Given the description of an element on the screen output the (x, y) to click on. 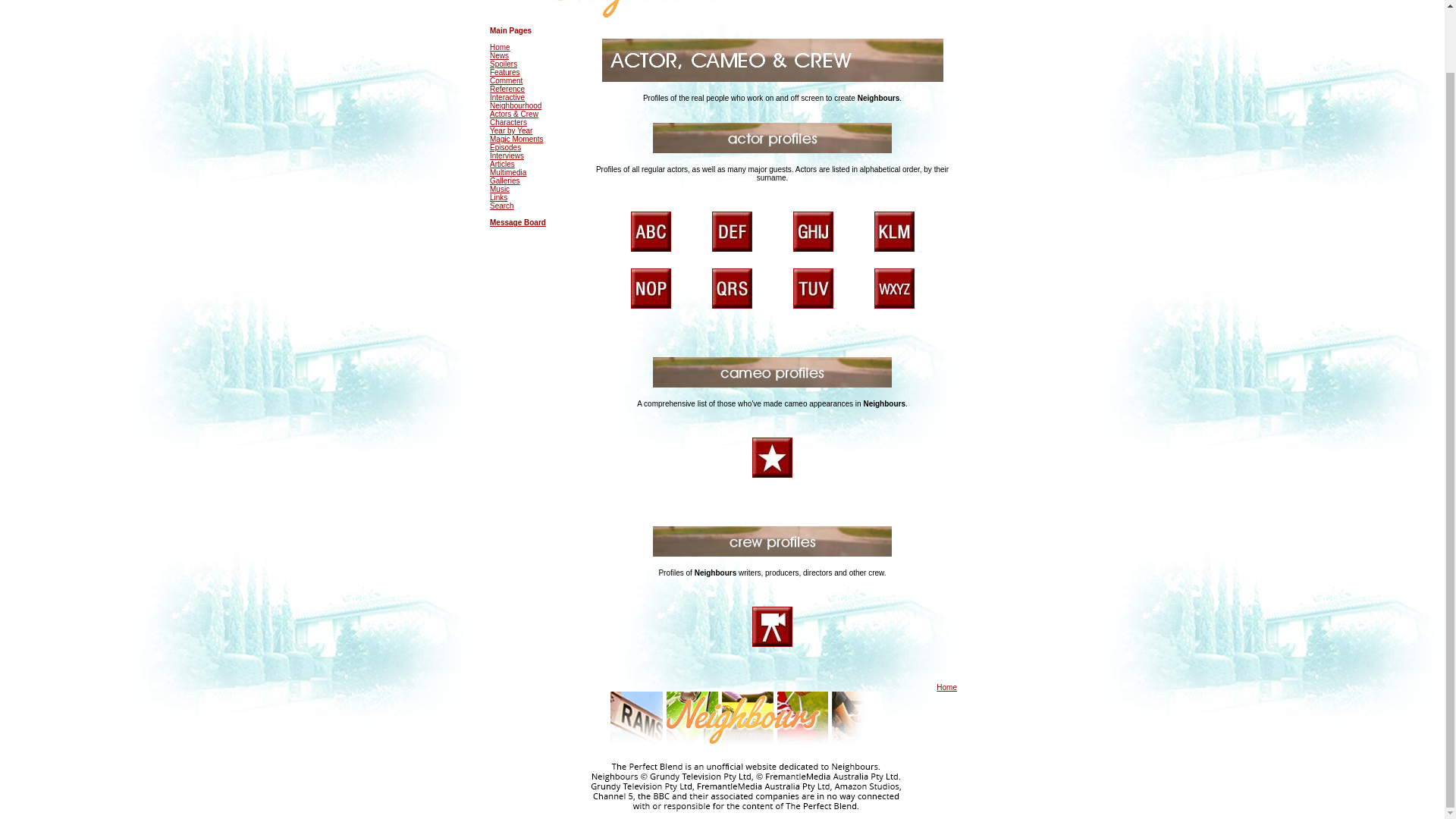
Links (497, 197)
Music (499, 189)
Articles (502, 163)
Neighbourhood (515, 105)
Search (501, 205)
Year by Year (510, 130)
Multimedia (507, 172)
Characters (508, 121)
News (498, 55)
Message Board (517, 222)
